Given the description of an element on the screen output the (x, y) to click on. 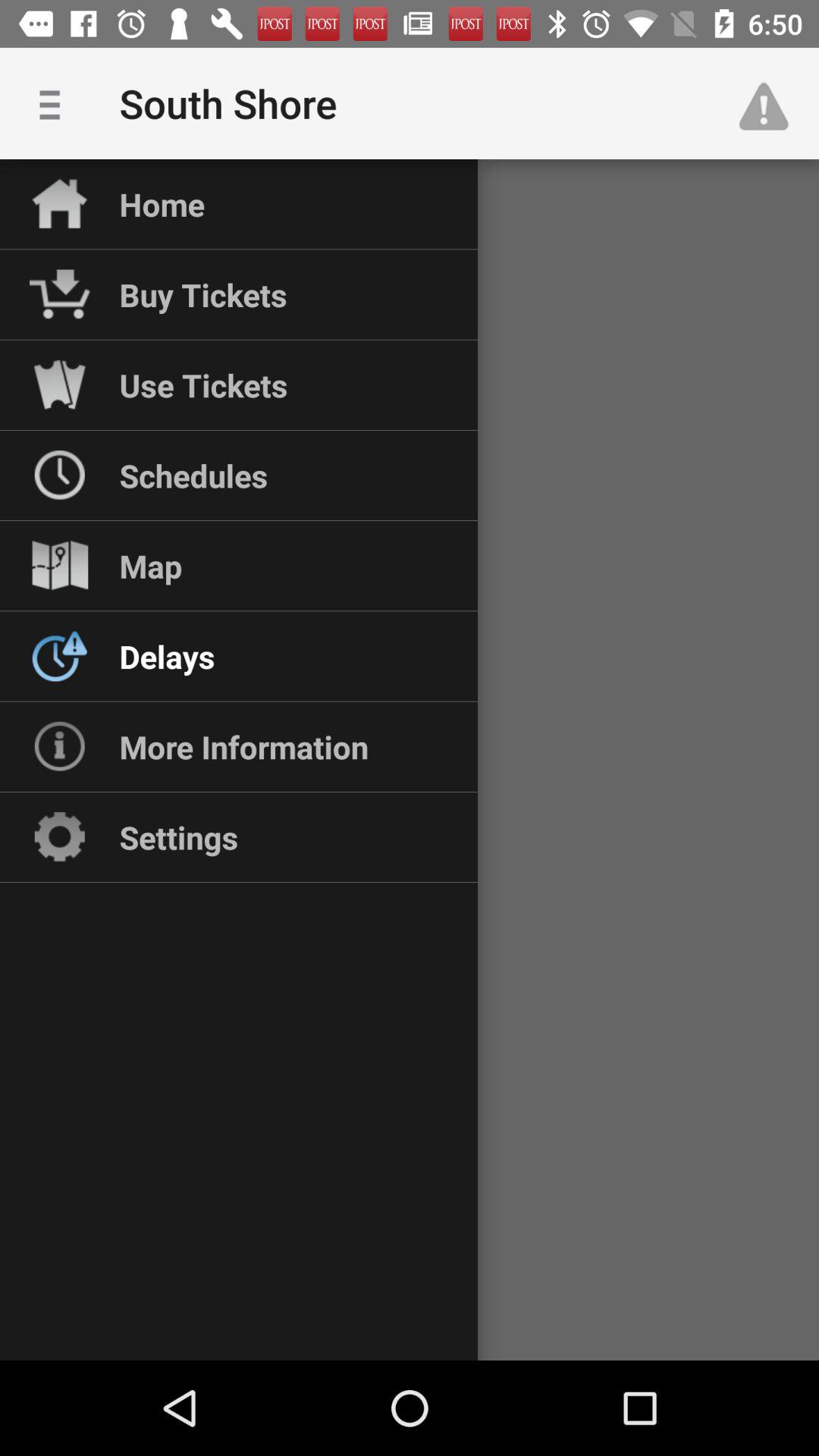
tap the more information icon (243, 746)
